Given the description of an element on the screen output the (x, y) to click on. 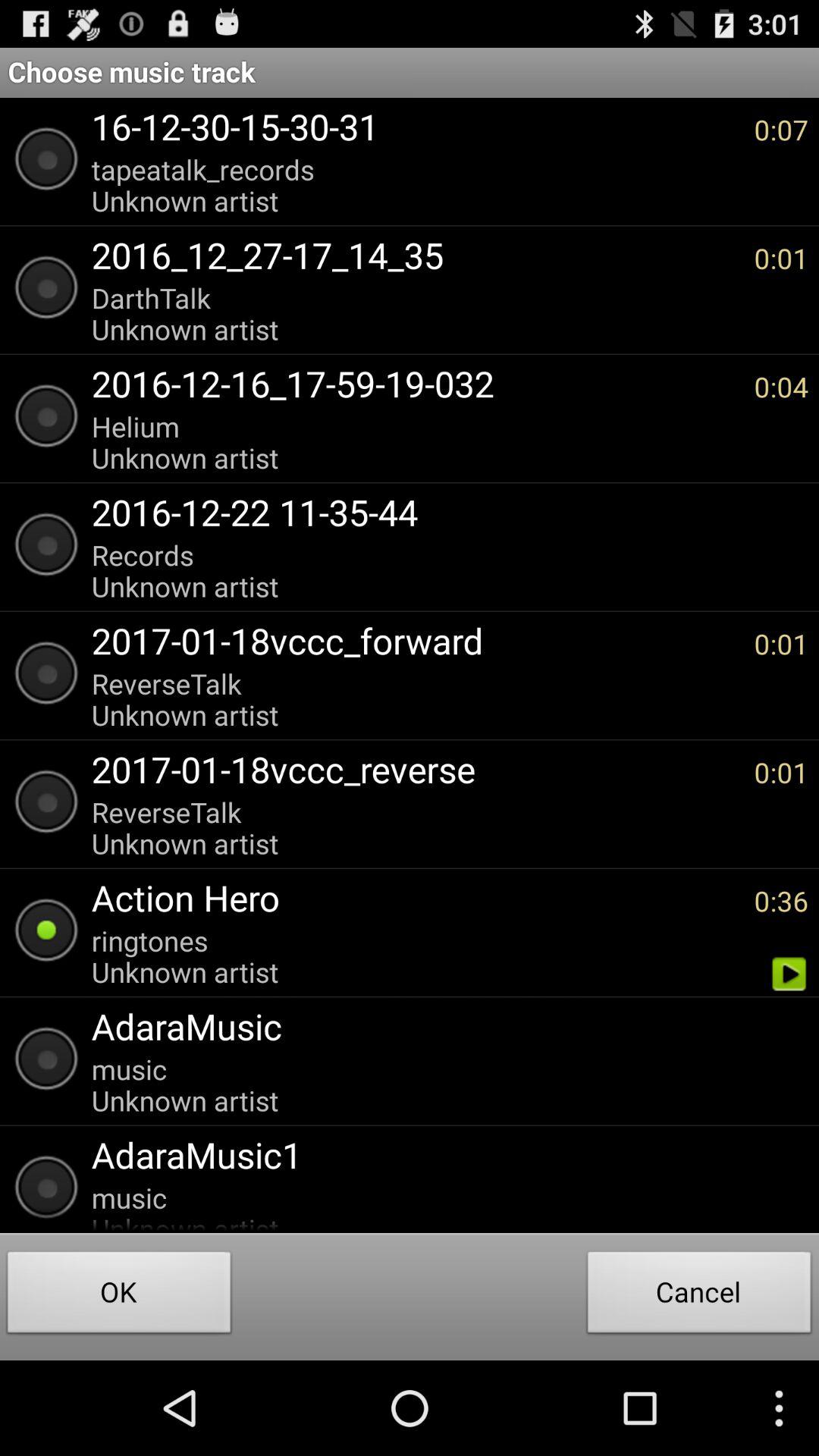
flip until the adaramusic icon (441, 1026)
